Given the description of an element on the screen output the (x, y) to click on. 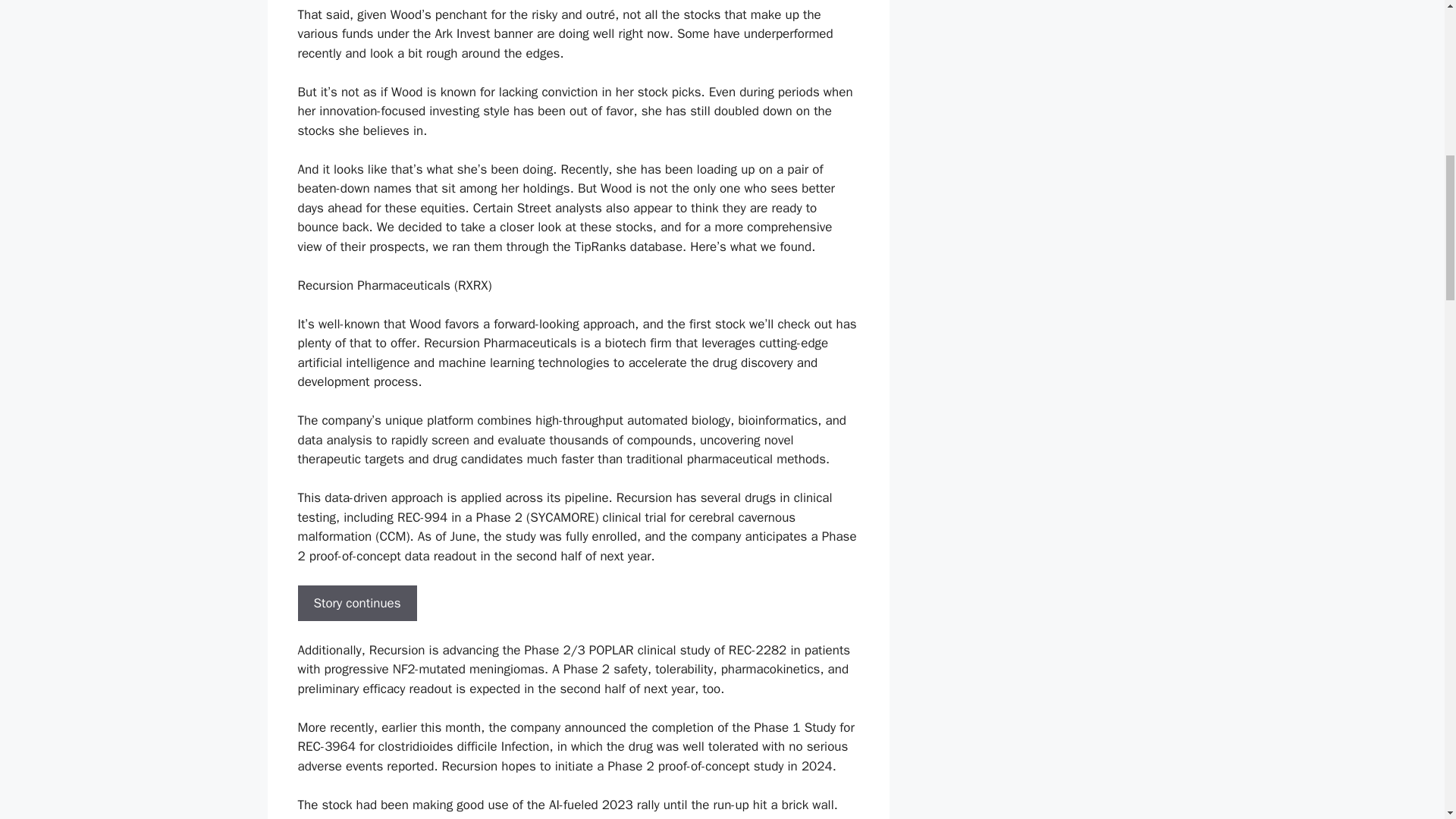
Scroll back to top (1406, 720)
Story continues (356, 603)
